Given the description of an element on the screen output the (x, y) to click on. 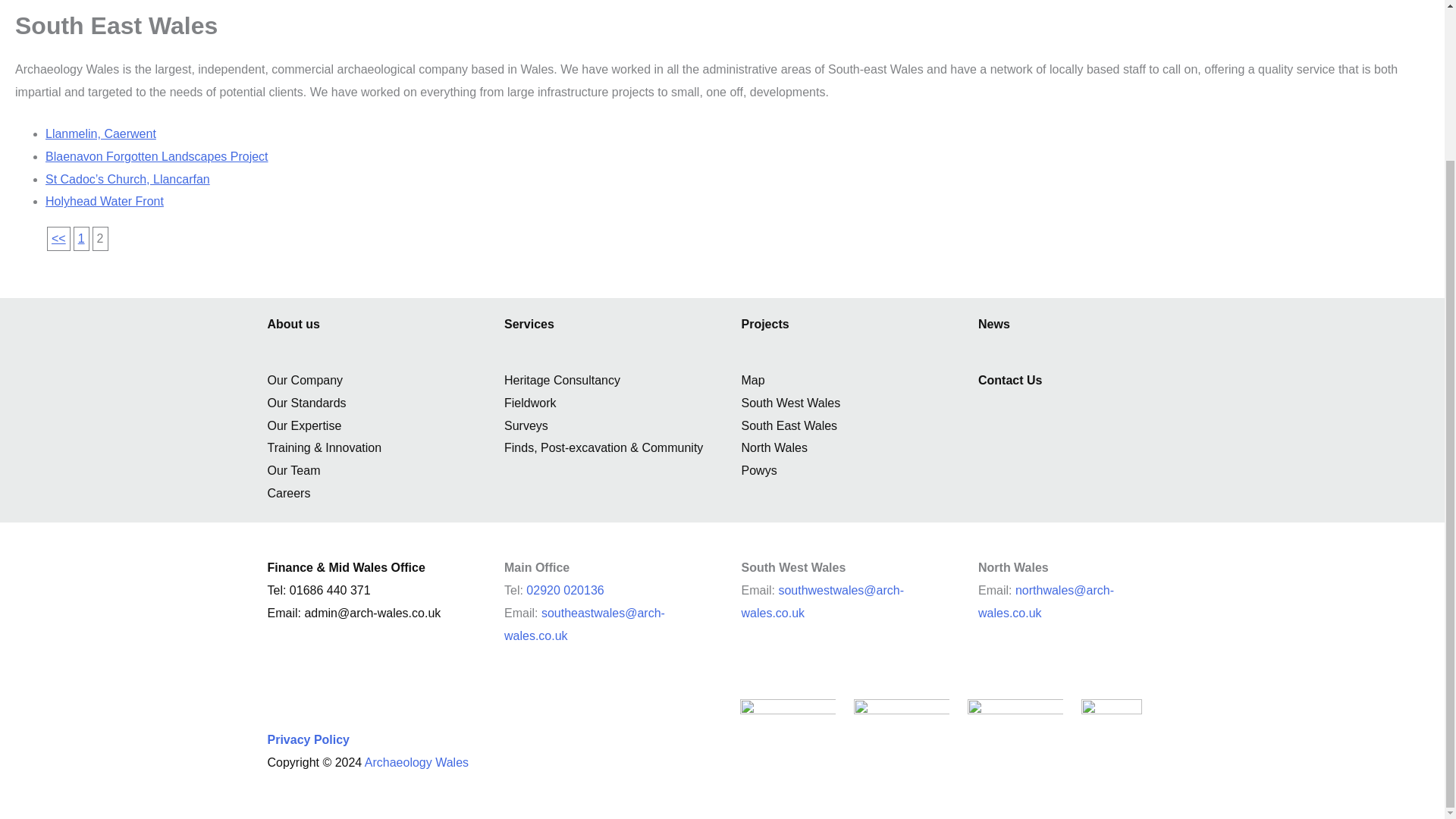
1 (57, 237)
